Given the description of an element on the screen output the (x, y) to click on. 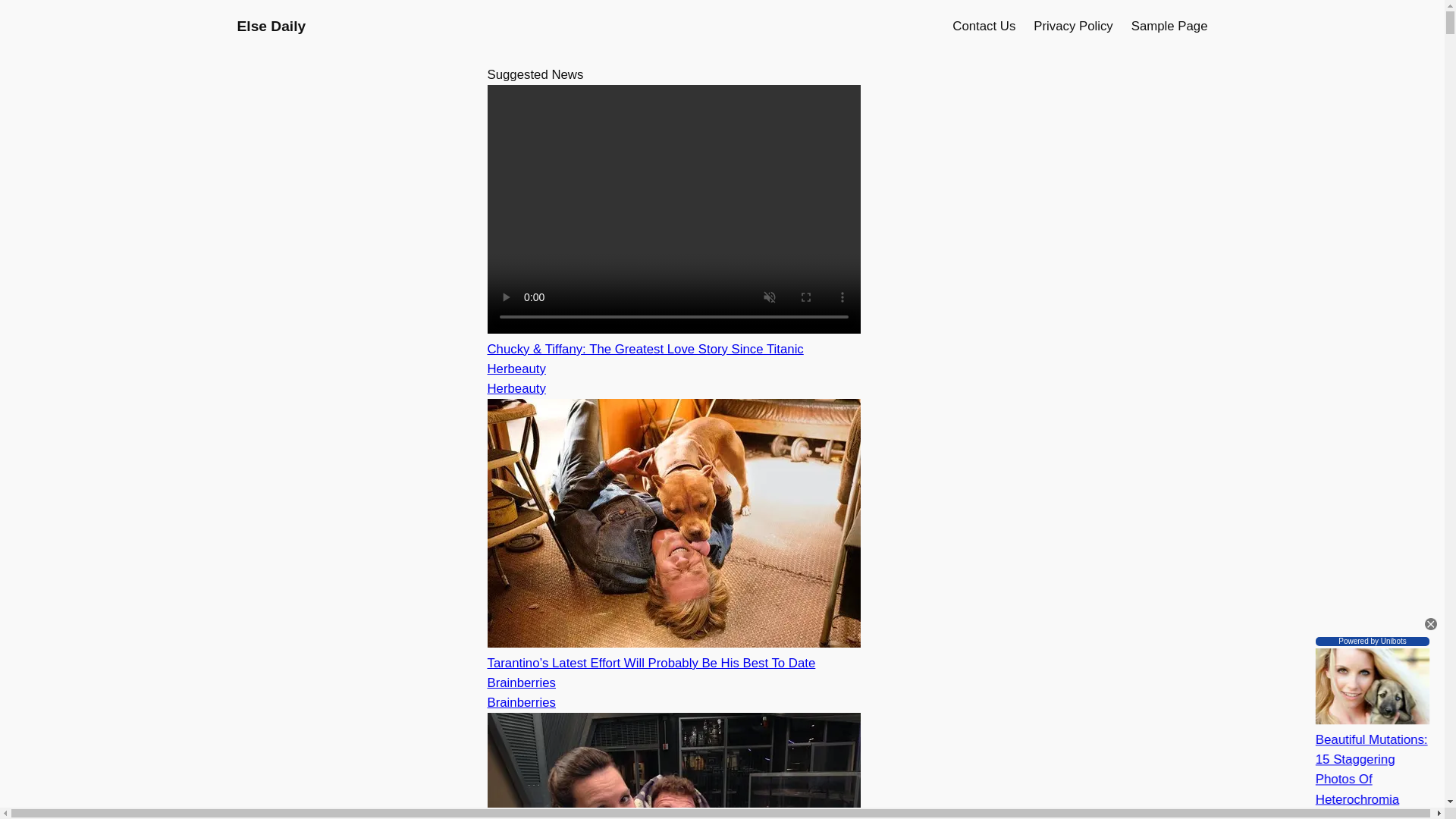
Privacy Policy (1072, 26)
Else Daily (270, 26)
Powered by Unibots (1372, 641)
Sample Page (1169, 26)
Contact Us (983, 26)
